Given the description of an element on the screen output the (x, y) to click on. 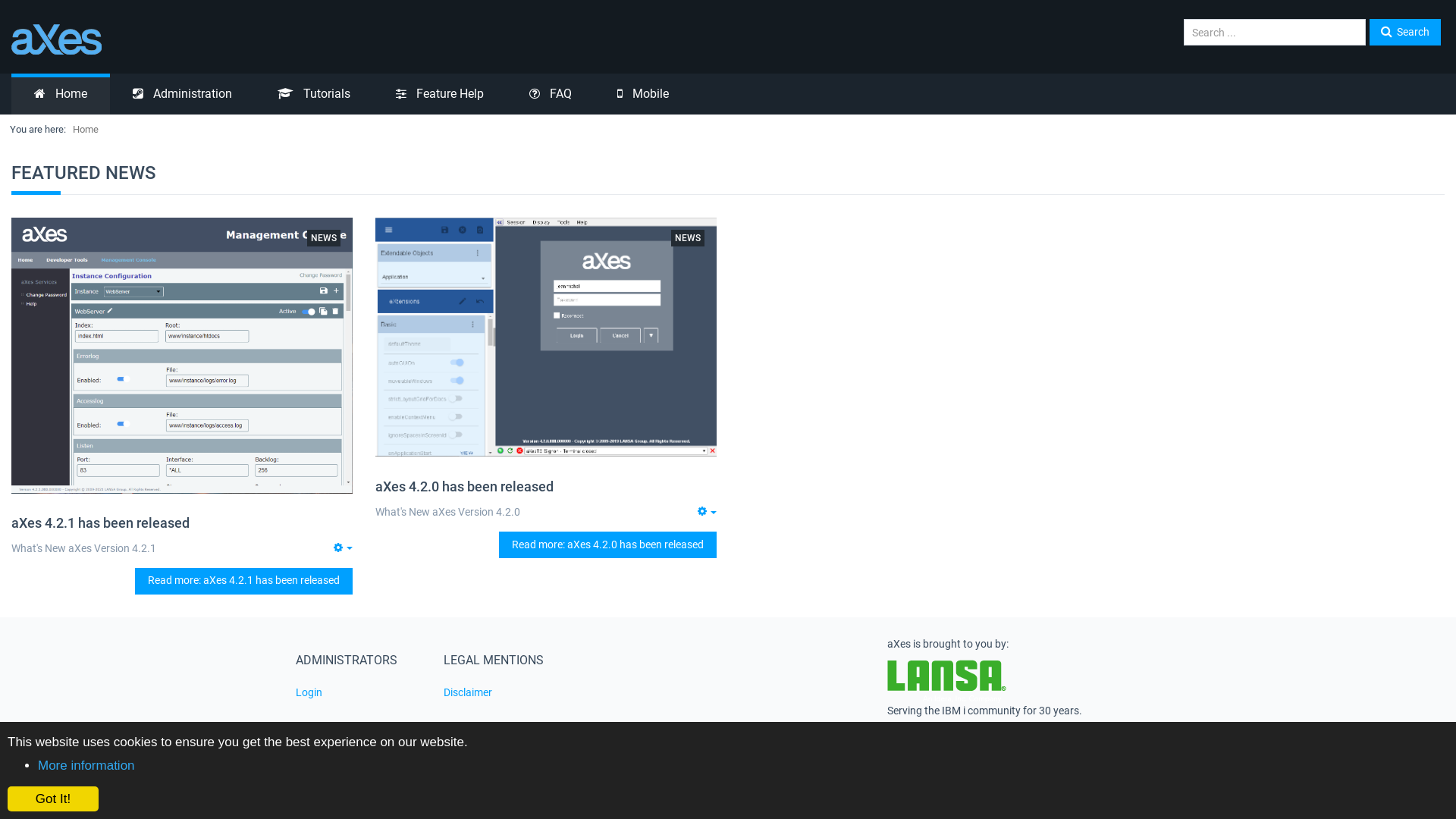
Feature Help Element type: text (439, 93)
Administration Element type: text (181, 93)
Mobile Element type: text (642, 93)
NEWS Element type: text (323, 237)
Read more: aXes 4.2.0 has been released Element type: text (607, 544)
Home Element type: text (60, 93)
aXes 4.2.0 has been released Element type: text (464, 486)
Search Element type: text (1404, 31)
aXes 4.2.1 has been released Element type: text (100, 522)
Got It! Element type: text (52, 798)
Disclaimer Element type: text (505, 692)
More information Element type: text (85, 765)
Login Element type: text (357, 692)
Read more: aXes 4.2.1 has been released Element type: text (243, 580)
Tutorials Element type: text (313, 93)
aXes Documentation Element type: hover (363, 39)
NEWS Element type: text (687, 237)
FAQ Element type: text (550, 93)
